Given the description of an element on the screen output the (x, y) to click on. 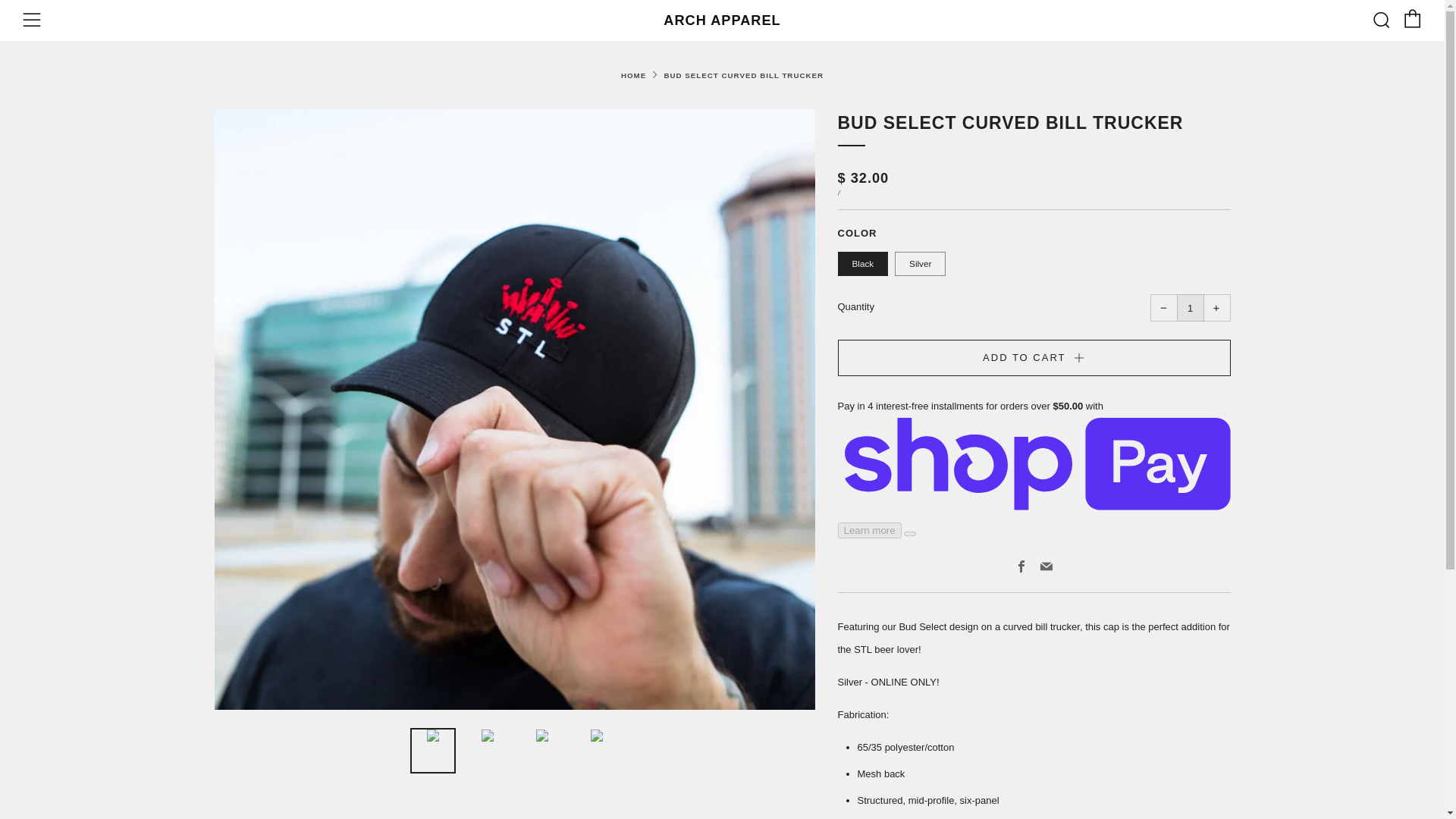
1 (1190, 307)
Home (633, 75)
